Given the description of an element on the screen output the (x, y) to click on. 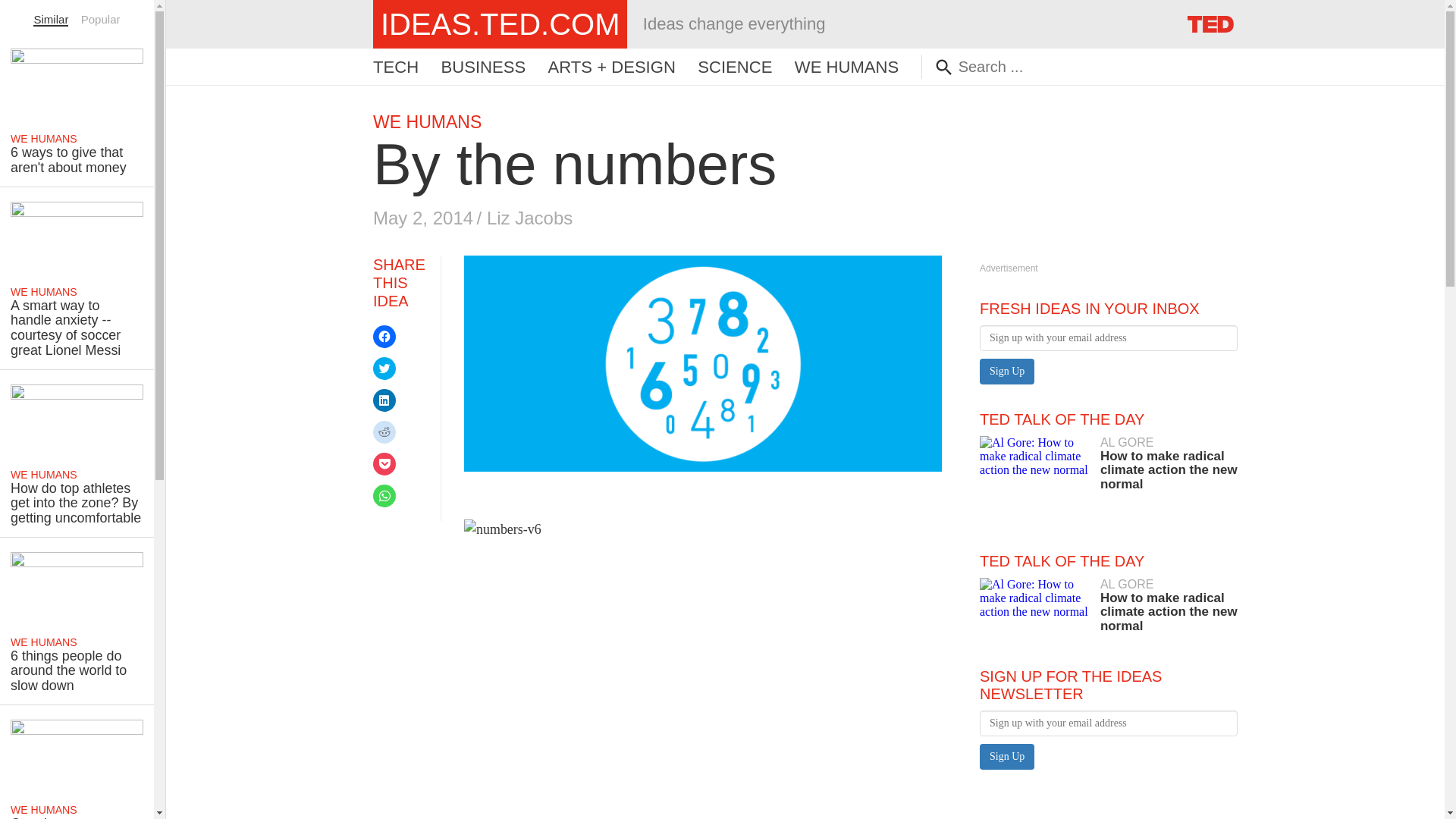
Sign Up (1006, 756)
Click to share on Pocket (384, 463)
Sign Up (1006, 371)
Liz Jacobs (529, 218)
Click to share on Twitter (384, 368)
BUSINESS (483, 66)
Click to share on Facebook (384, 336)
Click to share on LinkedIn (384, 400)
WE HUMANS (426, 121)
WE HUMANS (846, 66)
